Given the description of an element on the screen output the (x, y) to click on. 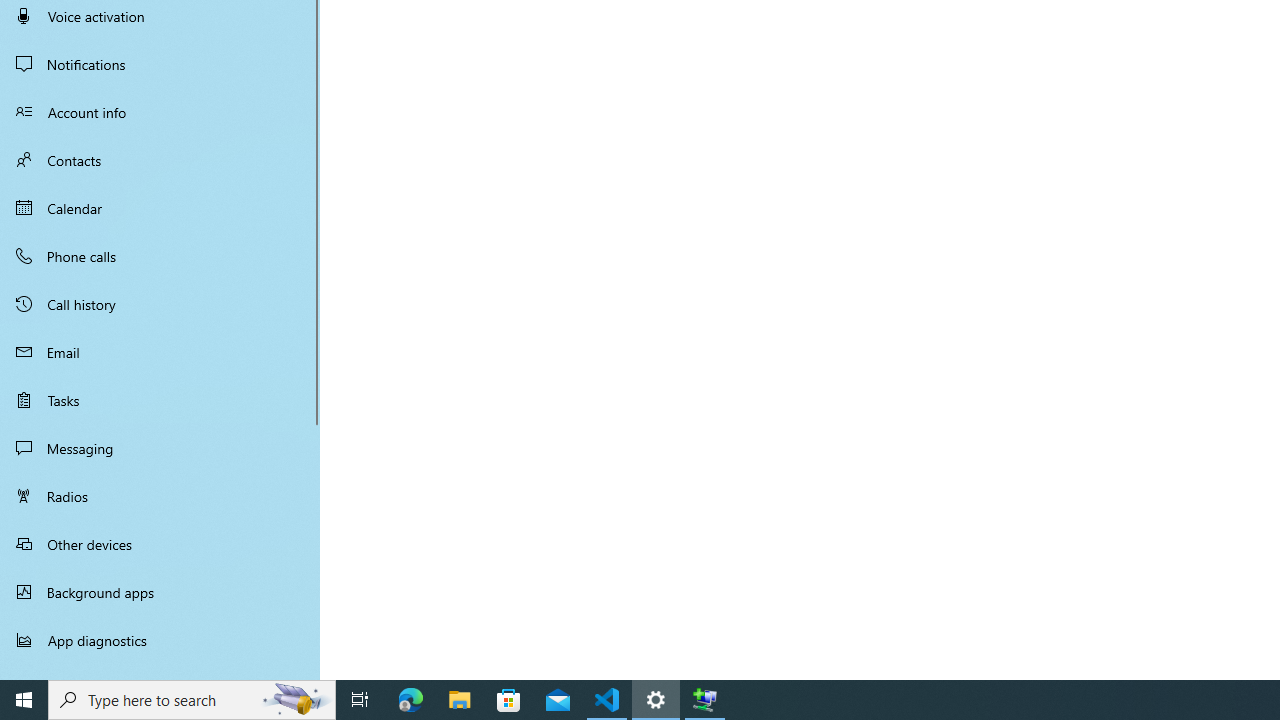
Phone calls (160, 255)
Email (160, 351)
Contacts (160, 160)
Automatic file downloads (160, 671)
Messaging (160, 448)
